Given the description of an element on the screen output the (x, y) to click on. 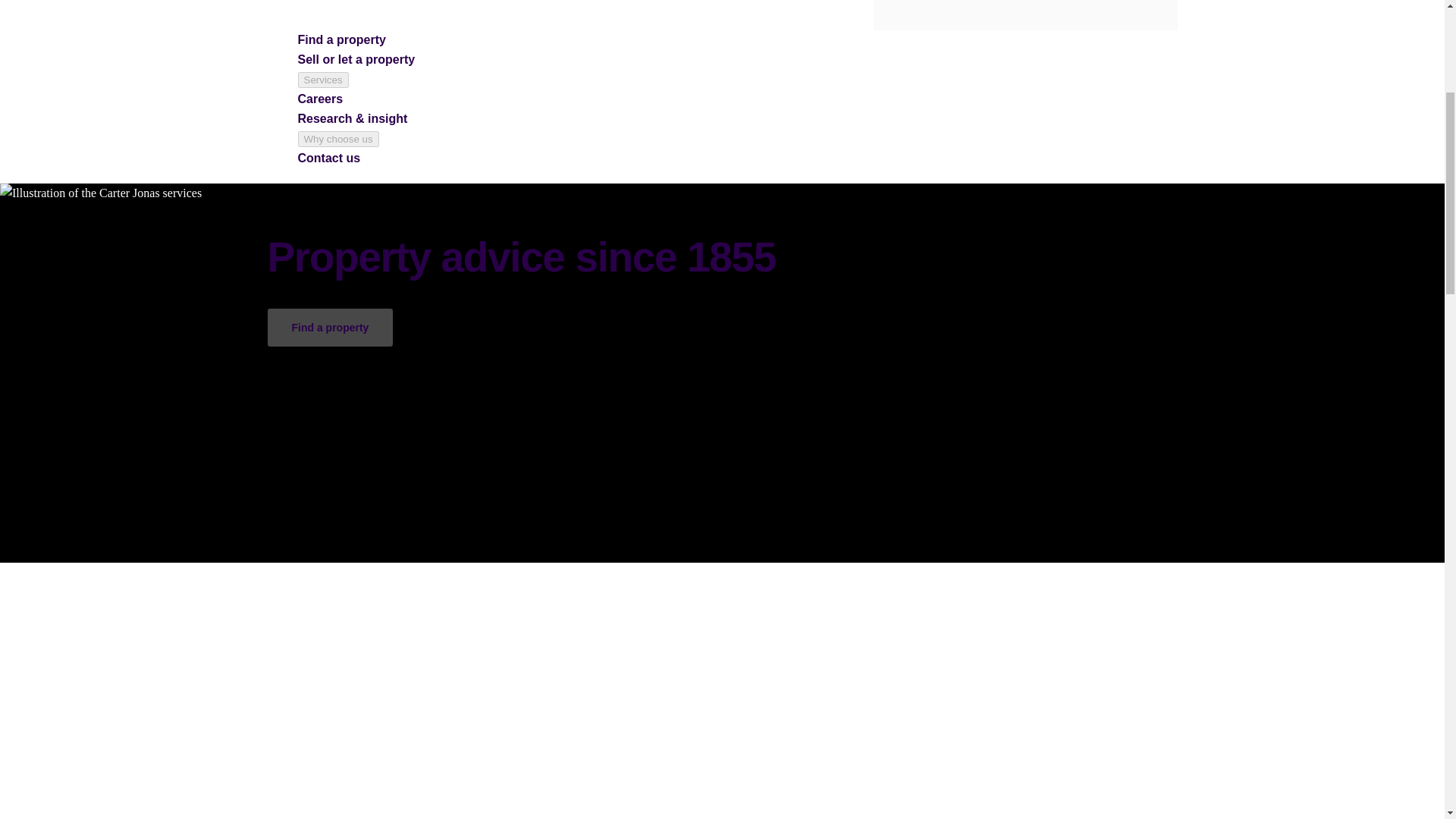
Menu (1025, 15)
Sell or let a property (355, 59)
Find a property (341, 39)
Services (322, 79)
